Given the description of an element on the screen output the (x, y) to click on. 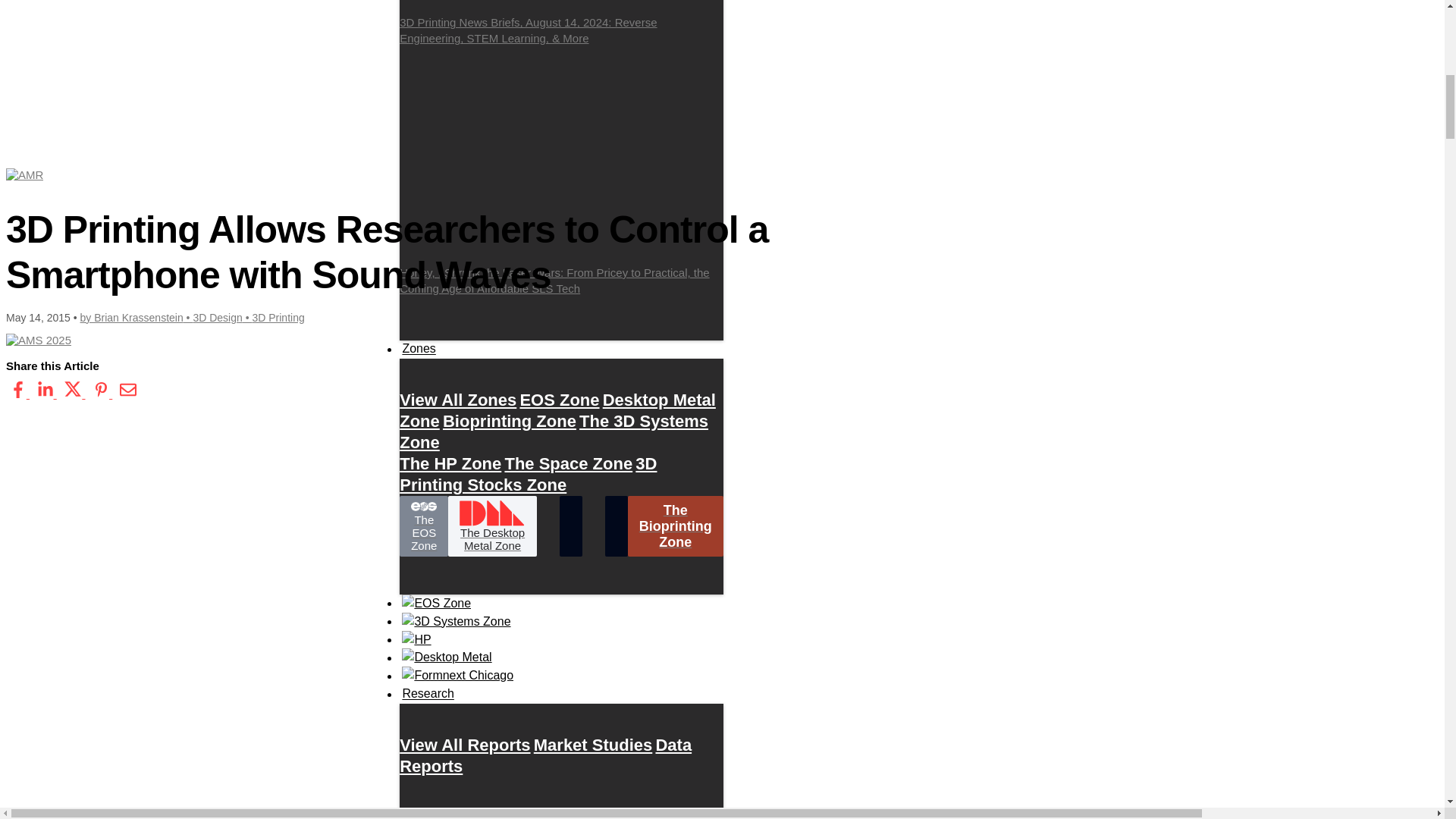
Zones (418, 348)
Desktop Metal Zone (557, 410)
The HP Zone (449, 463)
EOS Zone (558, 399)
The Desktop Metal Zone (491, 526)
3D Printing Stocks Zone (527, 474)
The 3D Systems Zone (552, 431)
The Space Zone (567, 463)
Bioprinting Zone (509, 421)
